Given the description of an element on the screen output the (x, y) to click on. 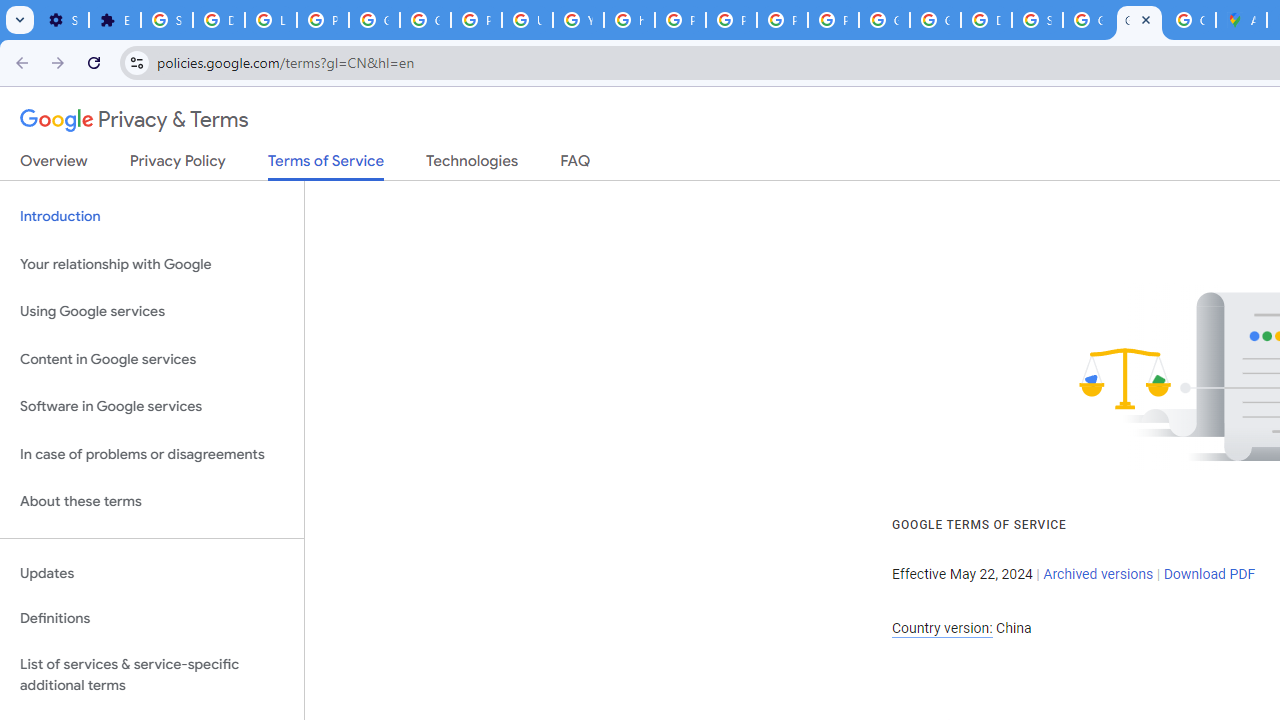
Google Account Help (374, 20)
Privacy Help Center - Policies Help (680, 20)
Create your Google Account (1189, 20)
Delete photos & videos - Computer - Google Photos Help (218, 20)
Settings - On startup (63, 20)
